Given the description of an element on the screen output the (x, y) to click on. 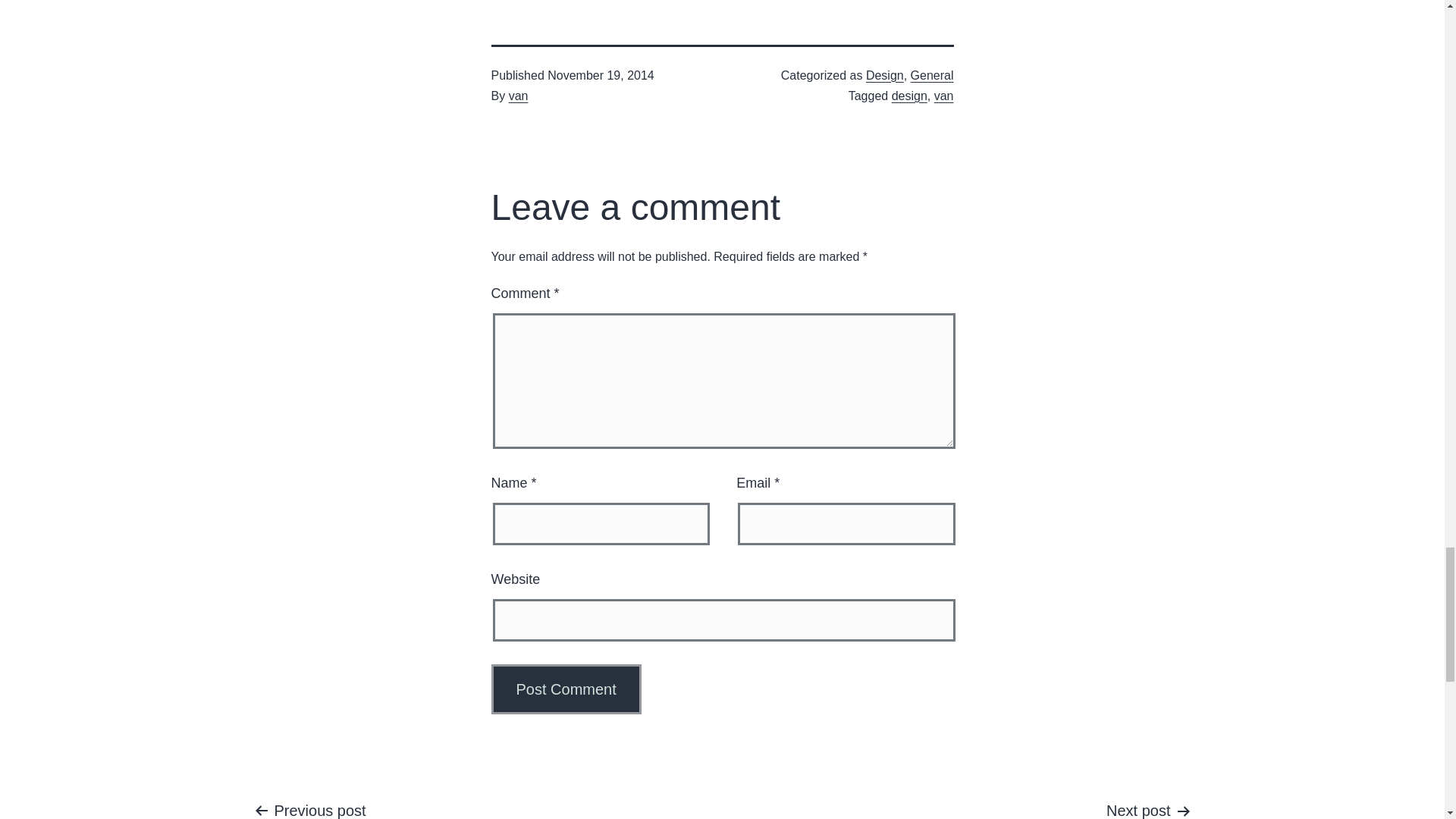
Post Comment (567, 689)
